Given the description of an element on the screen output the (x, y) to click on. 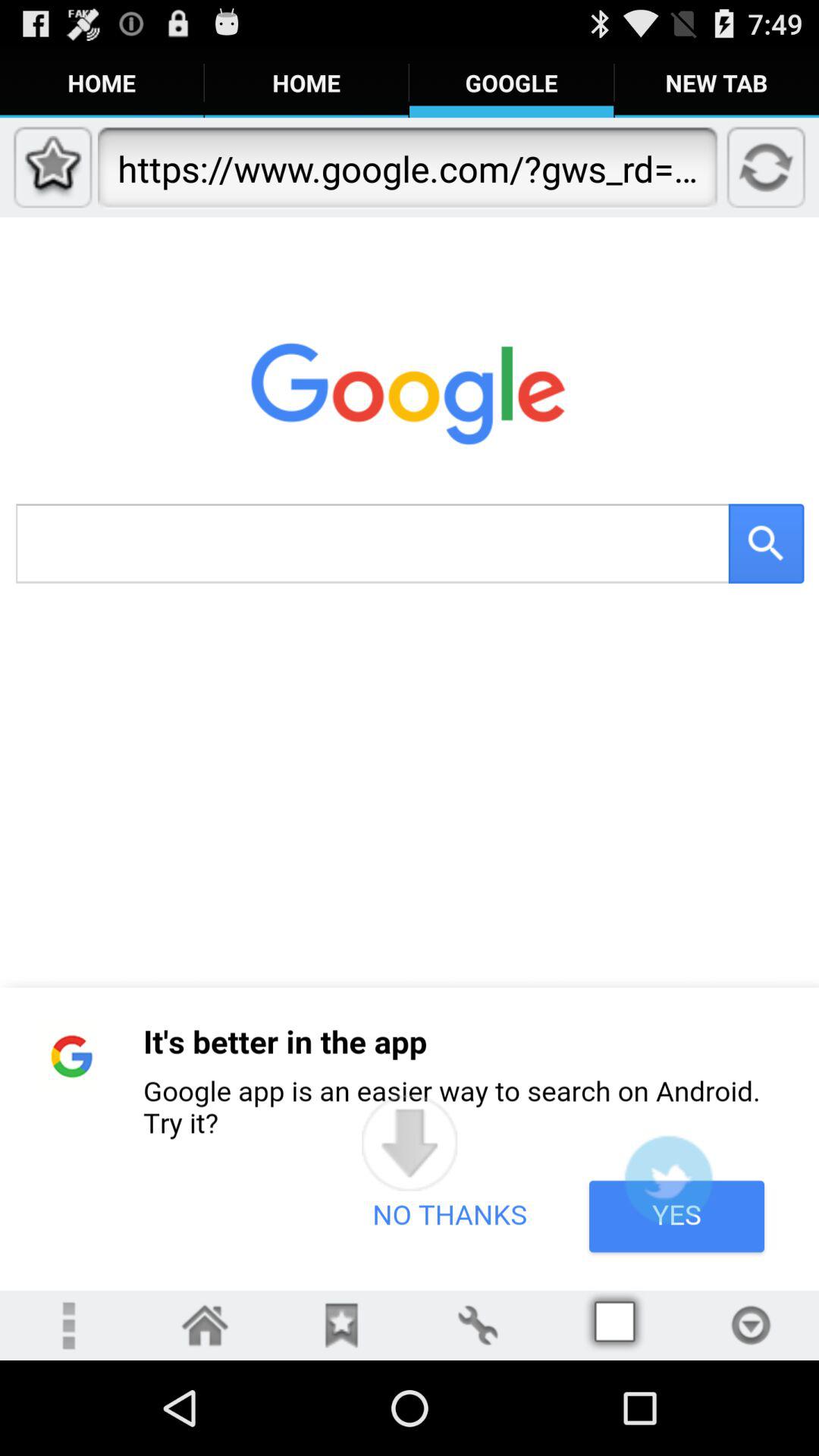
try suggestion (668, 1179)
